Given the description of an element on the screen output the (x, y) to click on. 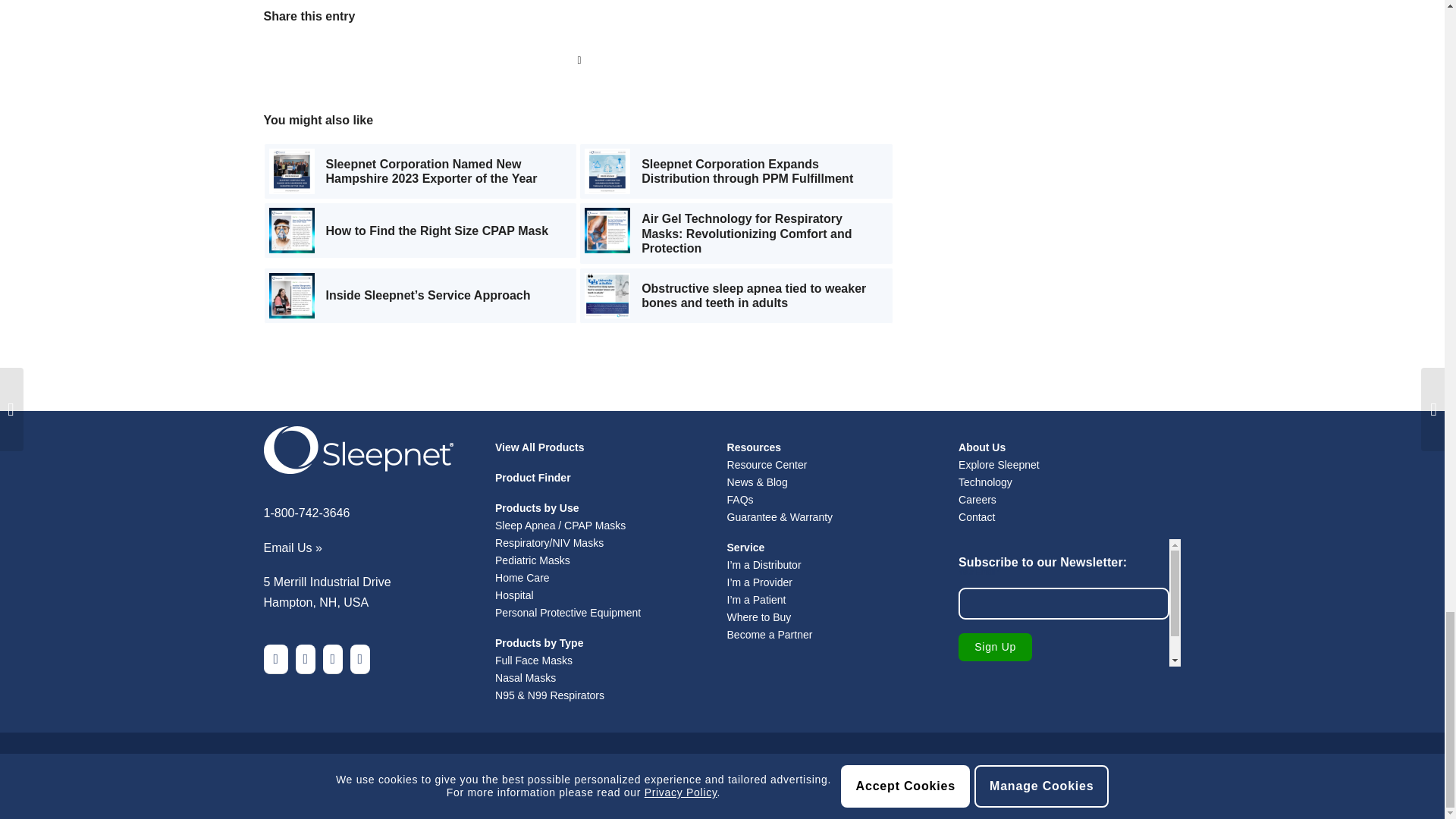
How to Find the Right Size CPAP Mask (420, 230)
How-to-Find-the-Right-Size-CPAP-Mask (290, 230)
Inside-Sleepnets-Service-Approach (290, 295)
Sleepnet PR (290, 171)
